Given the description of an element on the screen output the (x, y) to click on. 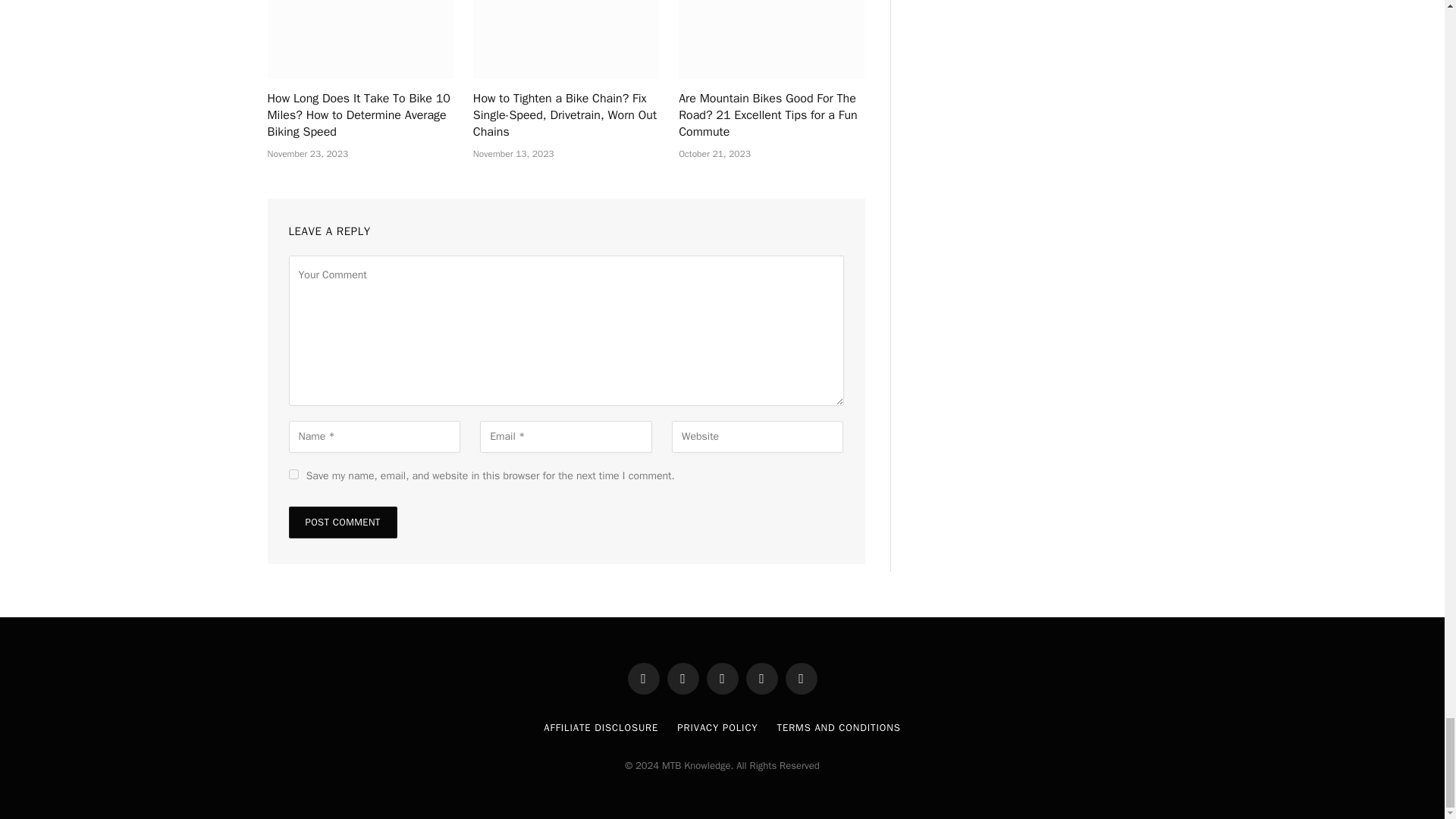
Post Comment (342, 522)
yes (293, 474)
